Given the description of an element on the screen output the (x, y) to click on. 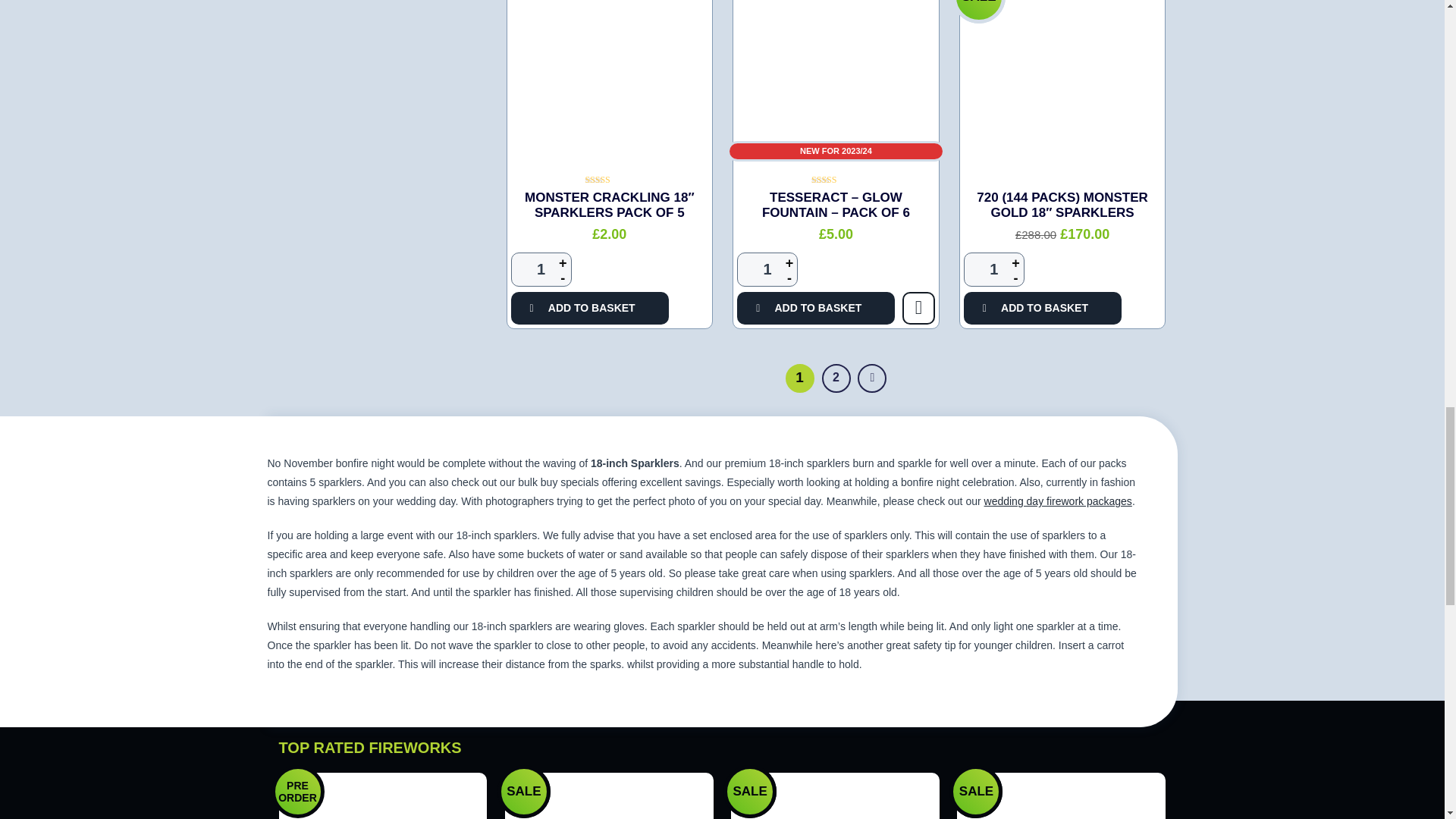
Qty (766, 269)
Qty (994, 269)
Qty (541, 269)
